Given the description of an element on the screen output the (x, y) to click on. 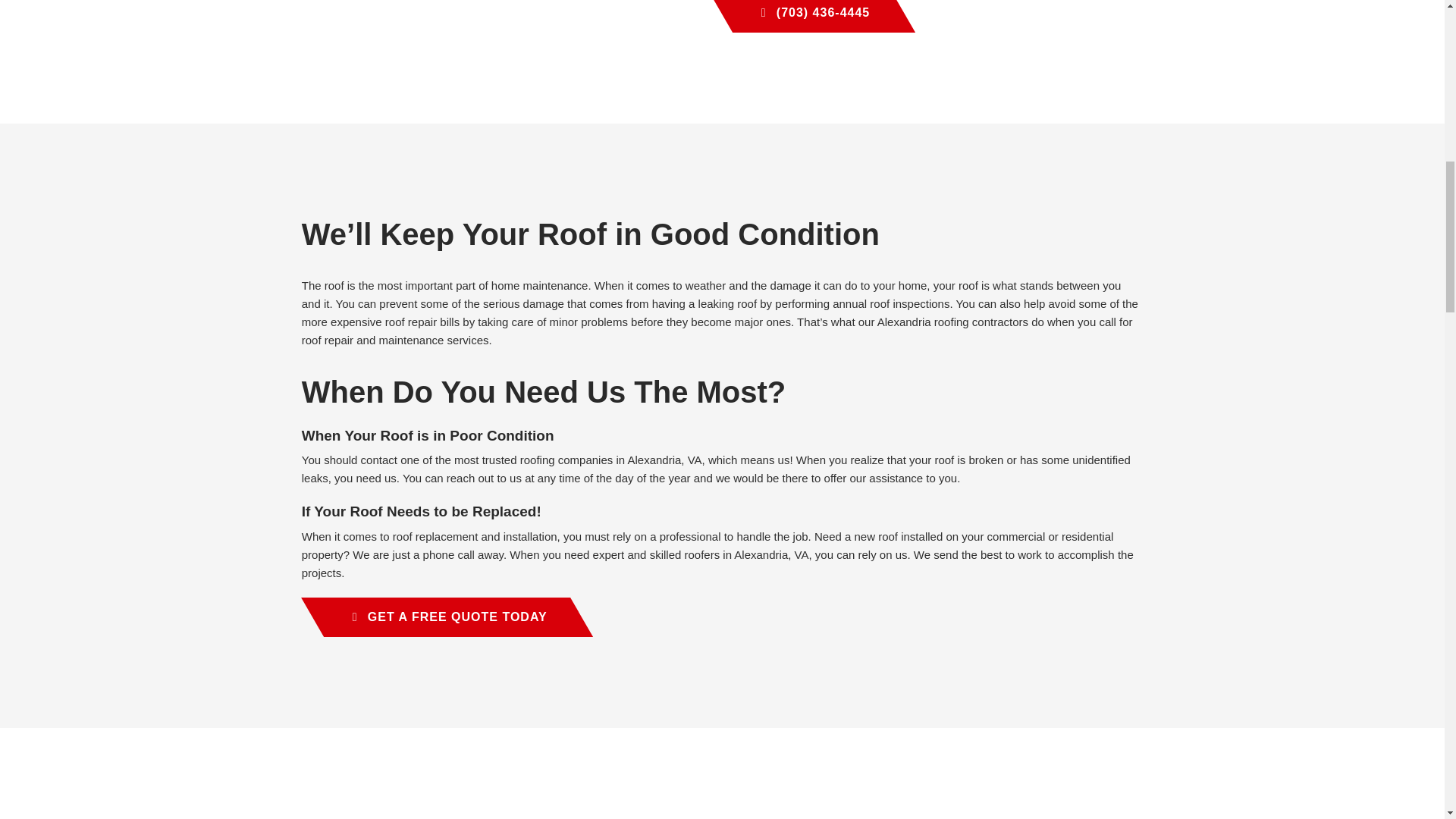
GET A FREE QUOTE TODAY (435, 617)
